Given the description of an element on the screen output the (x, y) to click on. 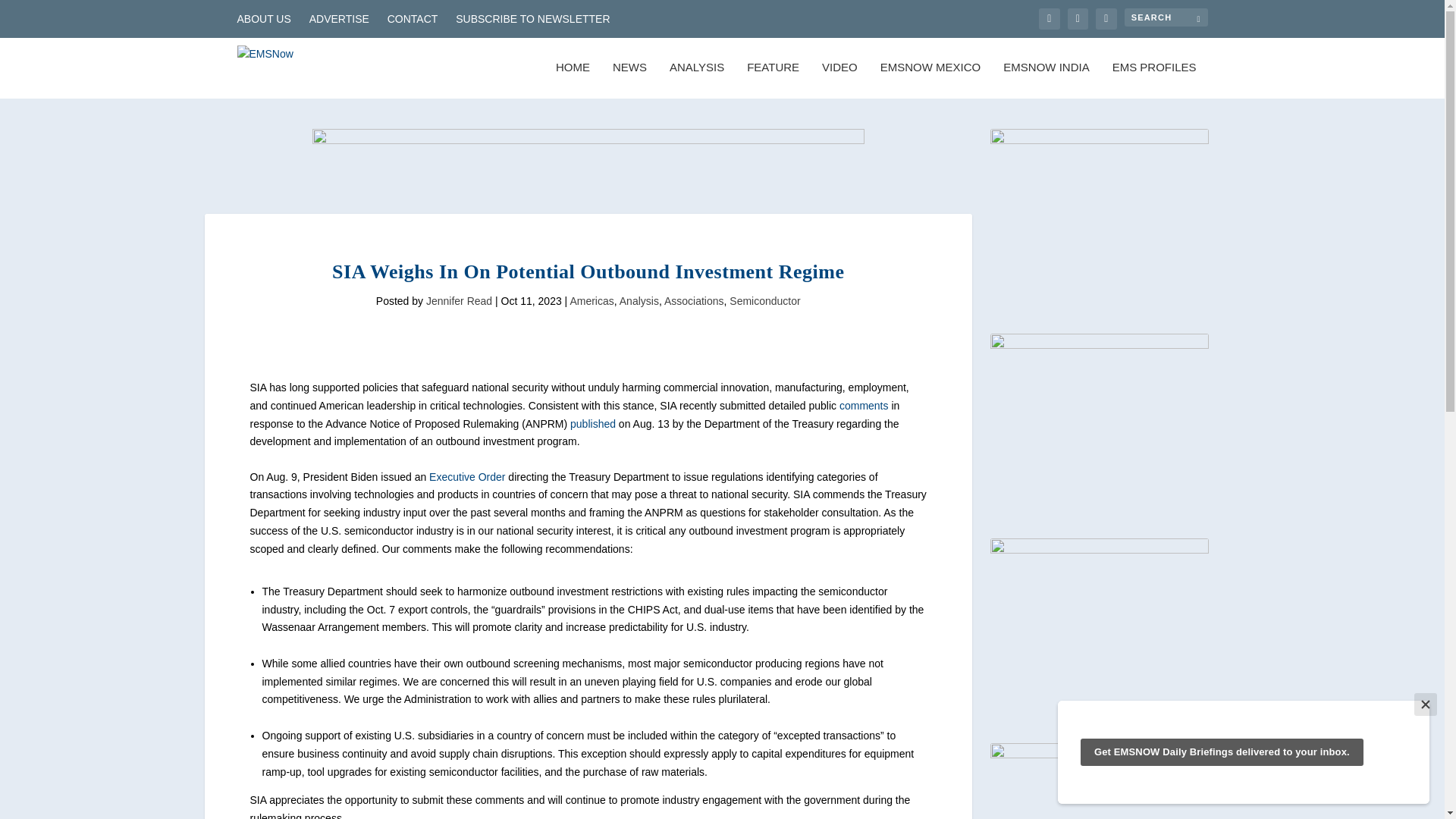
SUBSCRIBE TO NEWSLETTER (532, 18)
Semiconductor (764, 300)
EMS PROFILES (1154, 79)
FEATURE (772, 79)
ADVERTISE (338, 18)
ANALYSIS (696, 79)
comments (864, 405)
CONTACT (412, 18)
HOME (572, 79)
Posts by Jennifer Read (459, 300)
NEWS (629, 79)
Jennifer Read (459, 300)
Analysis (639, 300)
VIDEO (839, 79)
Associations (693, 300)
